Given the description of an element on the screen output the (x, y) to click on. 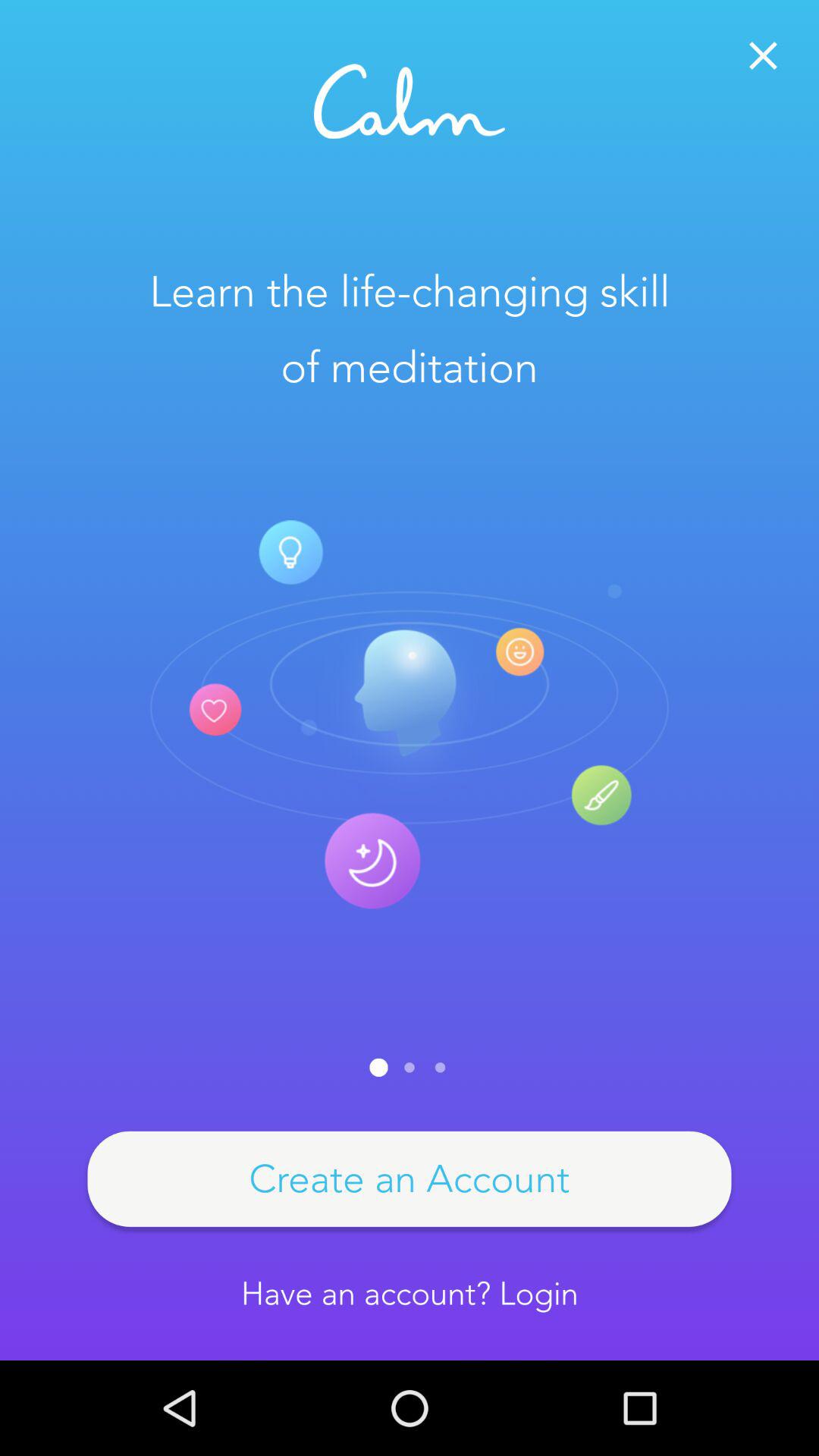
close button (763, 55)
